Given the description of an element on the screen output the (x, y) to click on. 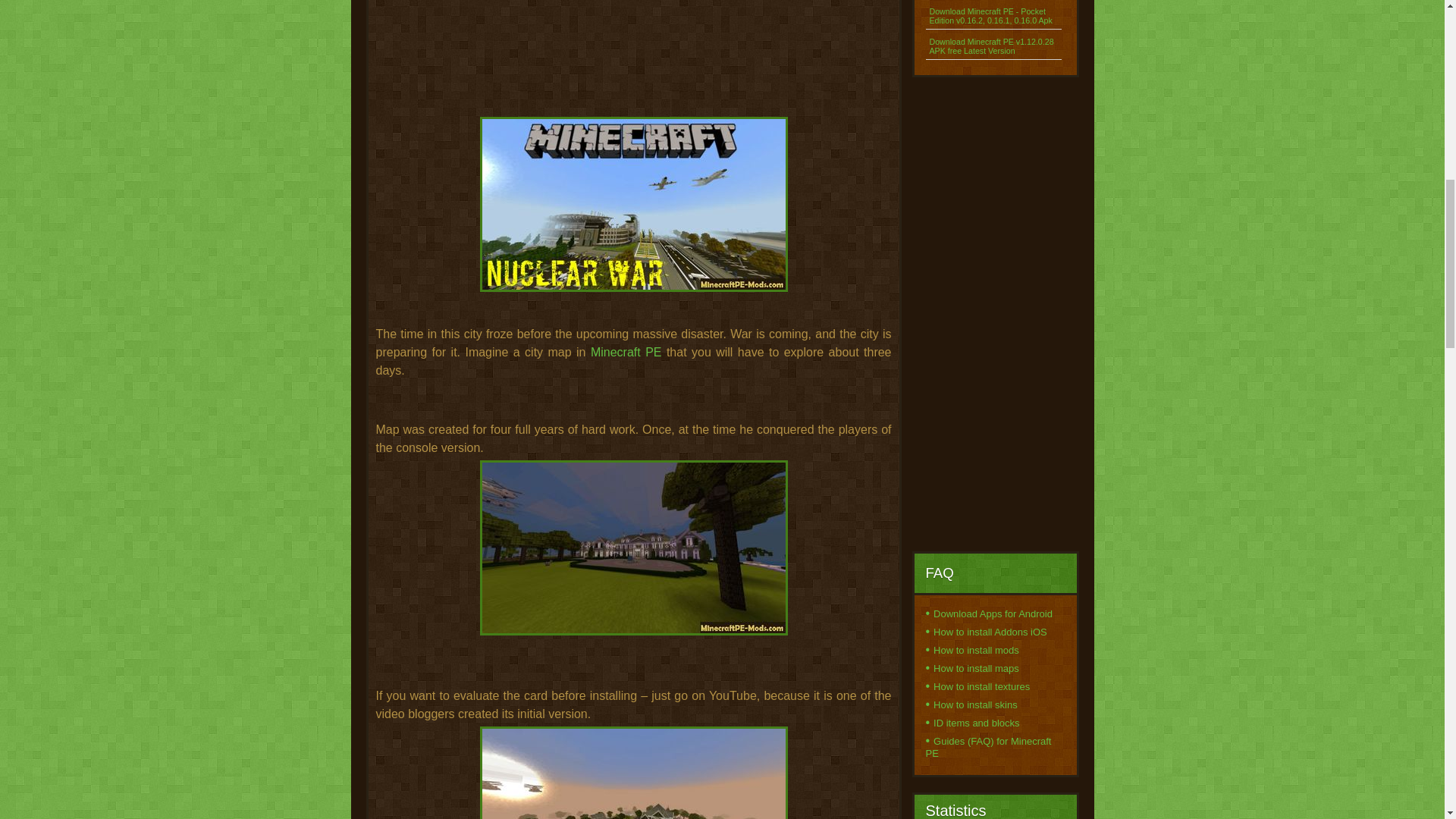
Click to view in full size... (633, 562)
Click to view in full size... (633, 219)
Click to view in full size... (633, 772)
5 Min to Nuclear War City Minecraft PE Map (633, 204)
5 Min to Nuclear War City Minecraft PE Map (633, 547)
